Given the description of an element on the screen output the (x, y) to click on. 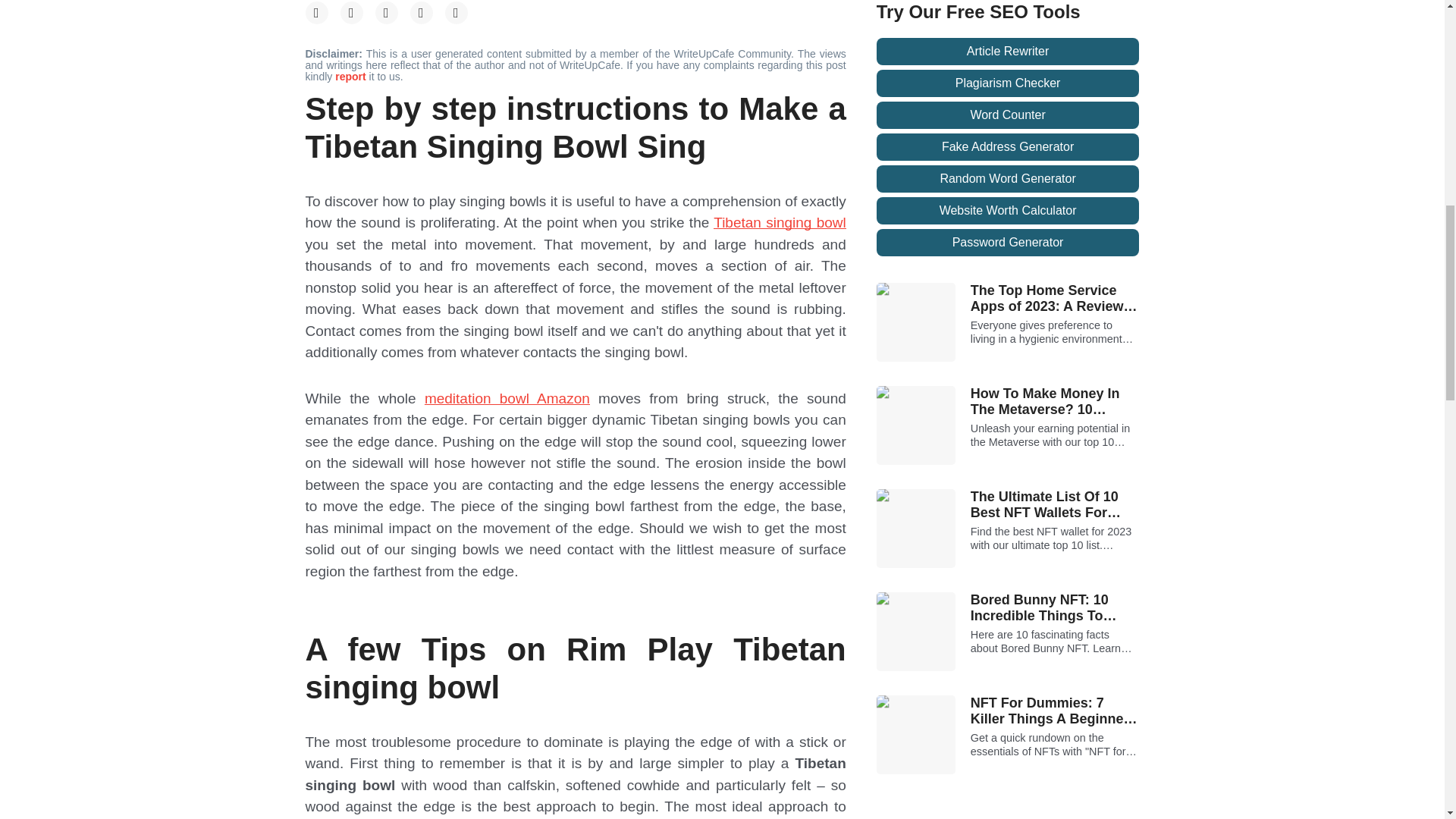
Article Rewriter (1008, 51)
Tibetan singing bowl (779, 222)
The Top Home Service Apps of 2023: A Review and Comparison (1055, 298)
Fake Address Generator (1008, 146)
report (351, 76)
Random Word Generator (1008, 178)
Plagiarism Checker (1008, 83)
Word Counter (1008, 114)
Website Worth Calculator (1008, 210)
